Given the description of an element on the screen output the (x, y) to click on. 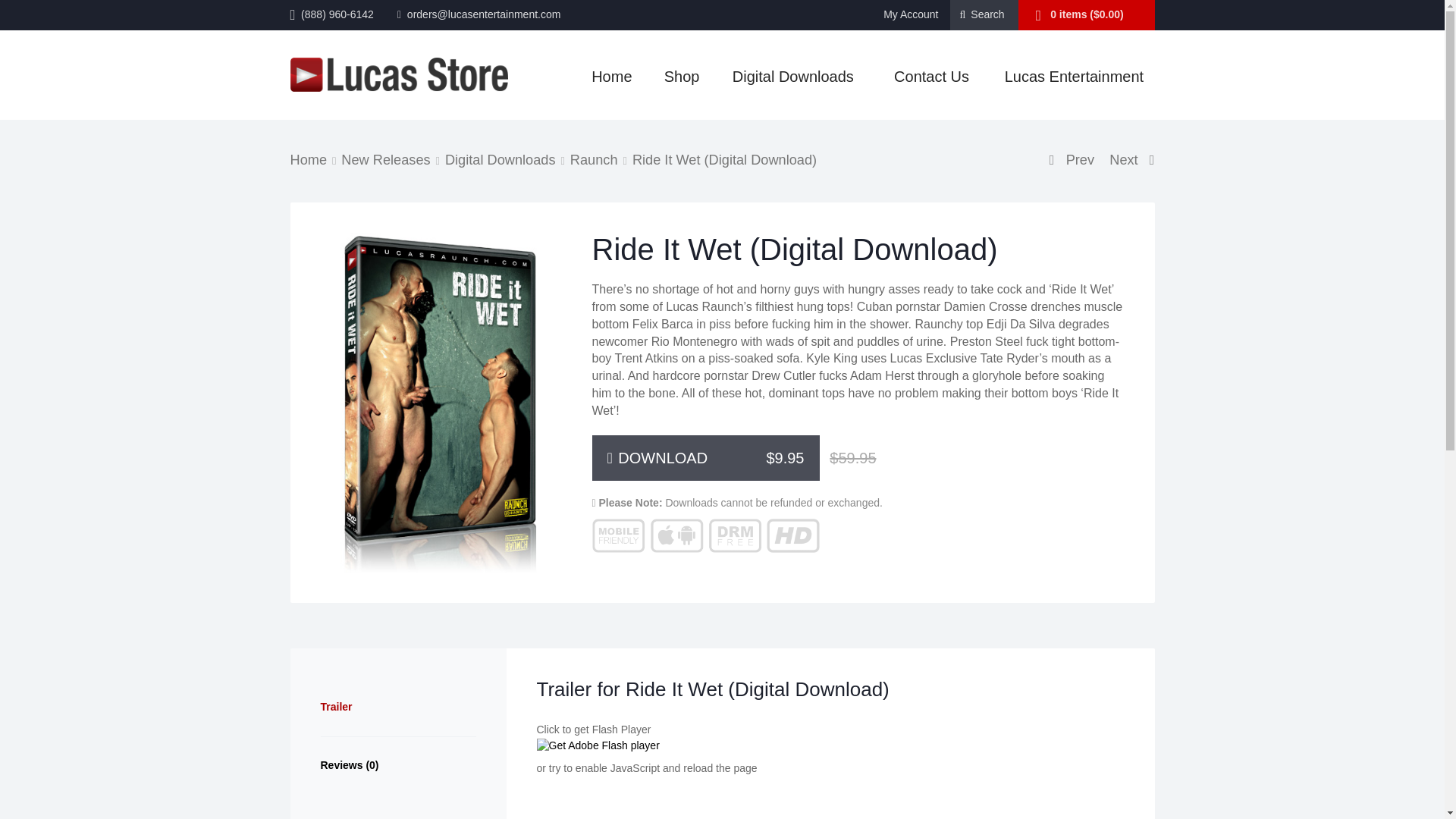
My Account (910, 14)
View your shopping cart (1086, 14)
